Given the description of an element on the screen output the (x, y) to click on. 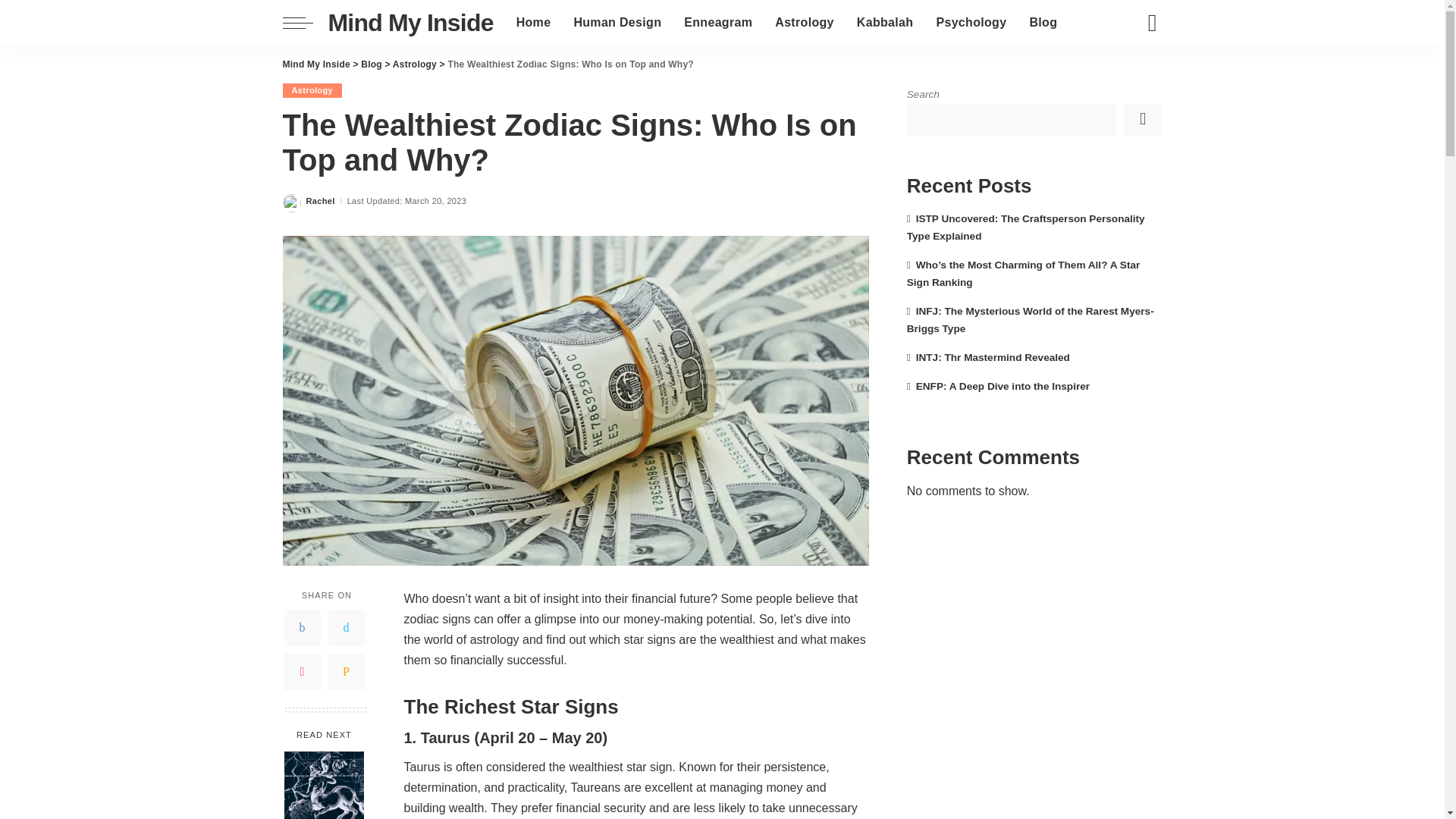
Facebook (301, 627)
Blog (371, 63)
Enneagram (717, 22)
Go to Mind My Inside. (315, 63)
Astrology (803, 22)
Kabbalah (884, 22)
Go to Blog. (371, 63)
Mind My Inside (410, 22)
Rachel (319, 201)
Pinterest (301, 671)
Human Design (617, 22)
Astrology (311, 90)
Mind My Inside (315, 63)
Twitter (345, 627)
Astrology (414, 63)
